Given the description of an element on the screen output the (x, y) to click on. 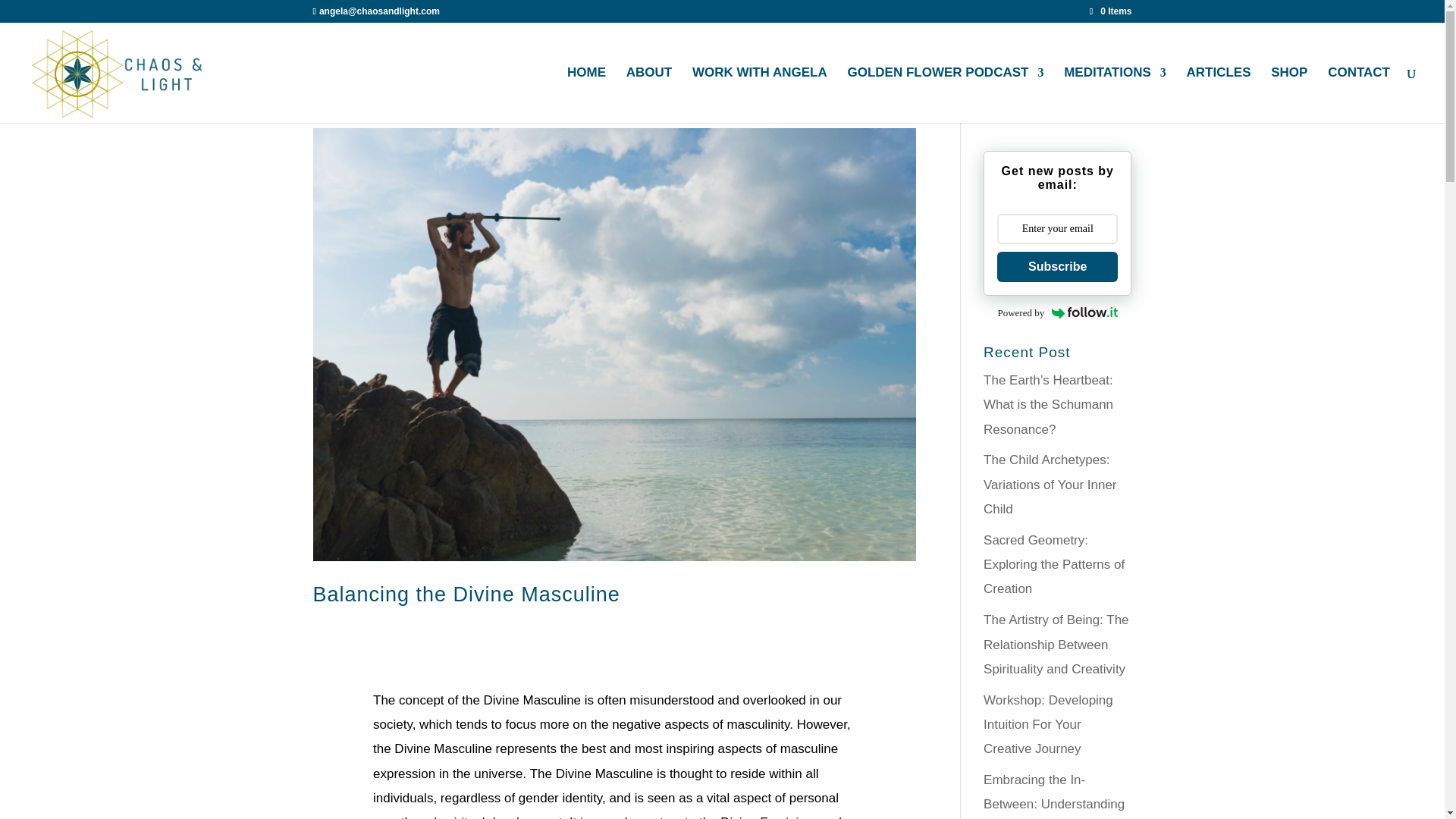
CONTACT (1358, 94)
Workshop: Developing Intuition For Your Creative Journey (1048, 724)
MEDITATIONS (1115, 94)
WORK WITH ANGELA (760, 94)
Embracing the In-Between: Understanding Liminal Spaces (1054, 796)
Powered by (1057, 312)
ARTICLES (1218, 94)
GOLDEN FLOWER PODCAST (945, 94)
Balancing the Divine Masculine (466, 594)
